Given the description of an element on the screen output the (x, y) to click on. 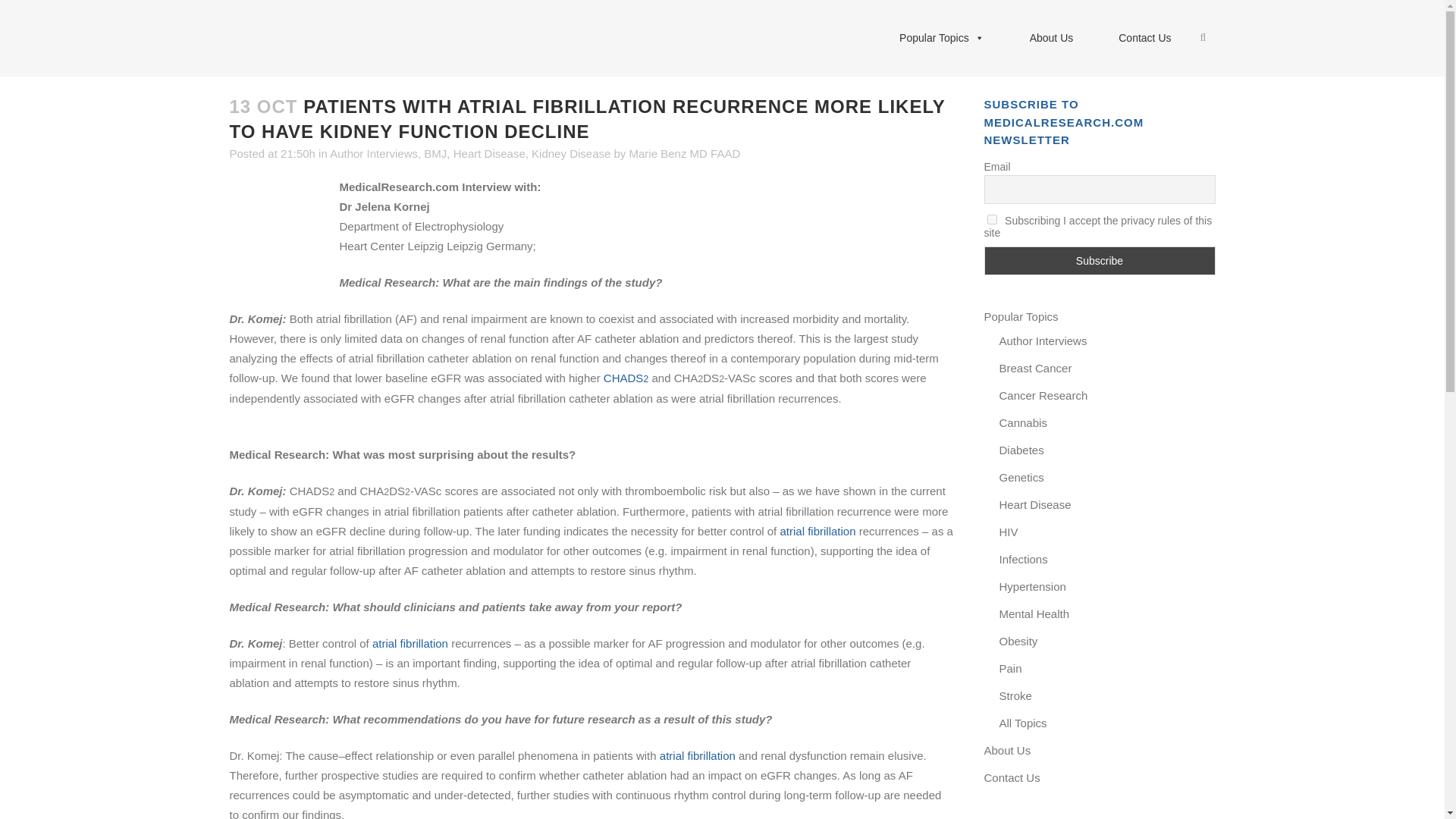
Popular Topics (941, 37)
Contact Us (1144, 37)
on (992, 219)
Simple Facial Webcam Can Detect Atrial Fibrillation (410, 643)
About Us (1051, 37)
Subscribe (1099, 260)
